Given the description of an element on the screen output the (x, y) to click on. 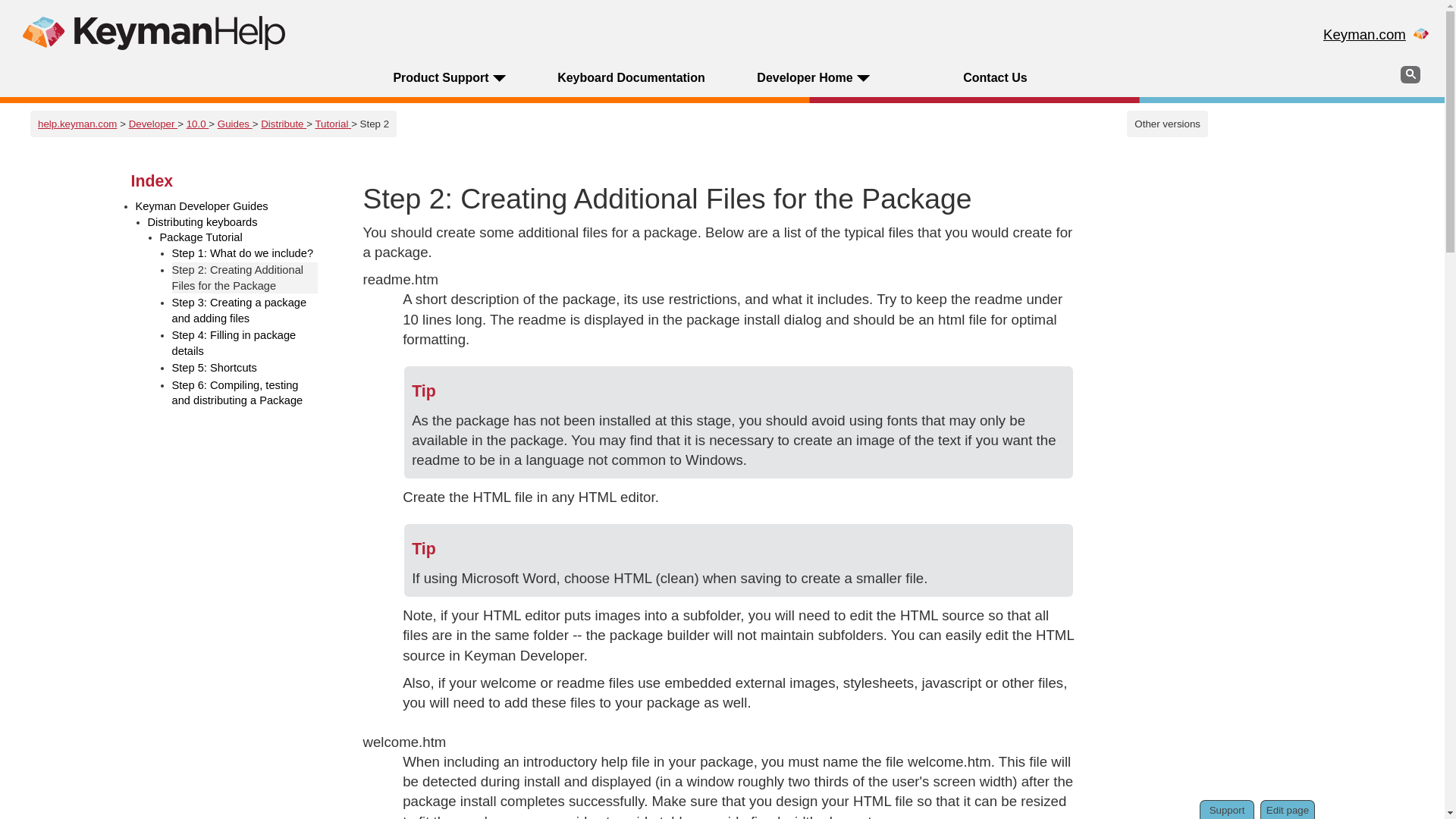
Step 5: Shortcuts (244, 367)
Step 3: Creating a package and adding files (244, 309)
Step 1: What do we include? (244, 253)
Product Support (440, 77)
Keyboard Documentation (631, 77)
Developer Home (804, 77)
Step 6: Compiling, testing and distributing a Package (244, 392)
Step 4: Filling in package details (244, 342)
